Given the description of an element on the screen output the (x, y) to click on. 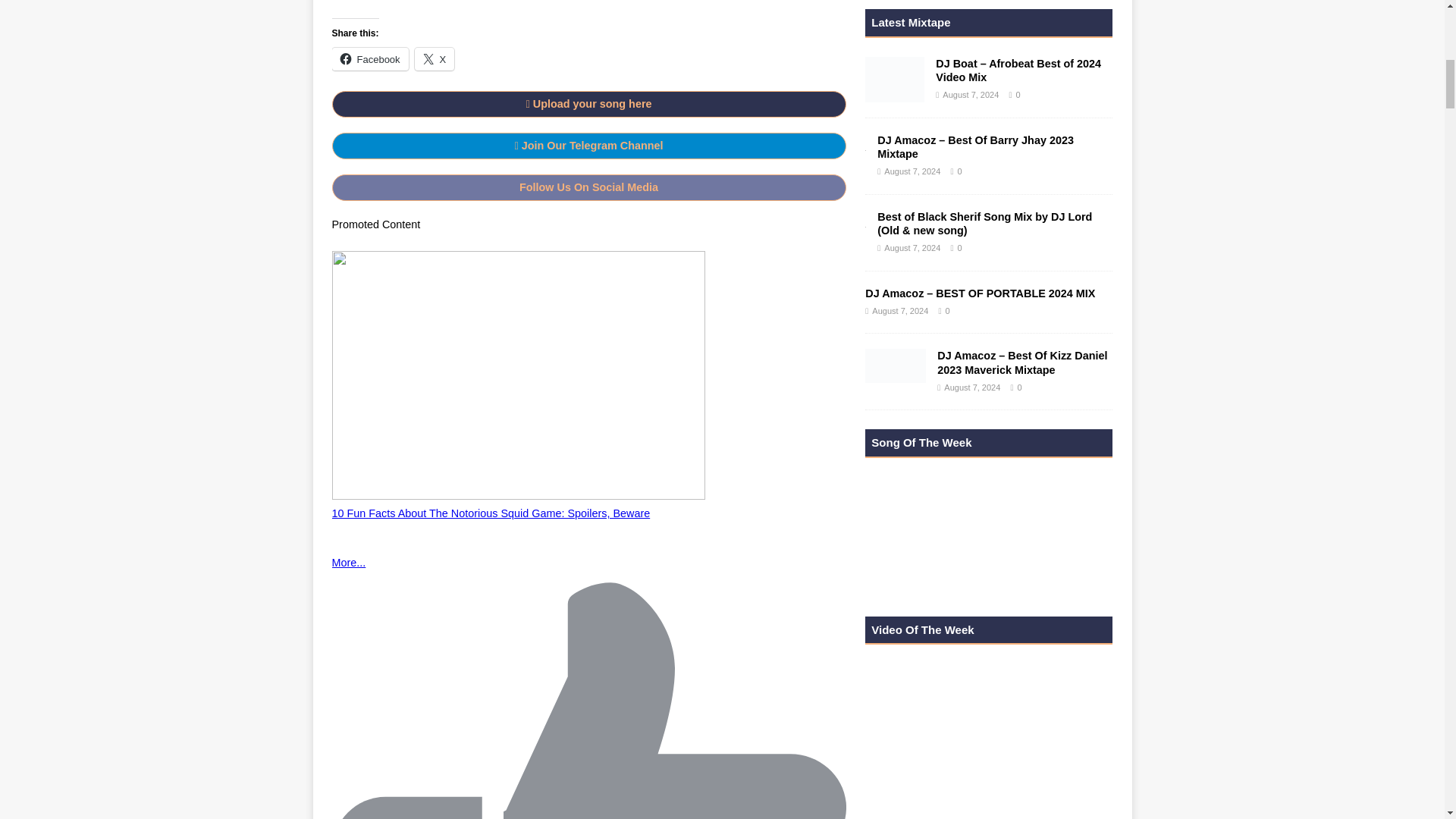
Click to share on X (434, 58)
Upload your song here (588, 103)
Join Our Telegram Channel (587, 145)
Download Here (386, 0)
Follow Us On Social Media (588, 186)
X (434, 58)
Click to share on Facebook (370, 58)
Facebook (370, 58)
